Given the description of an element on the screen output the (x, y) to click on. 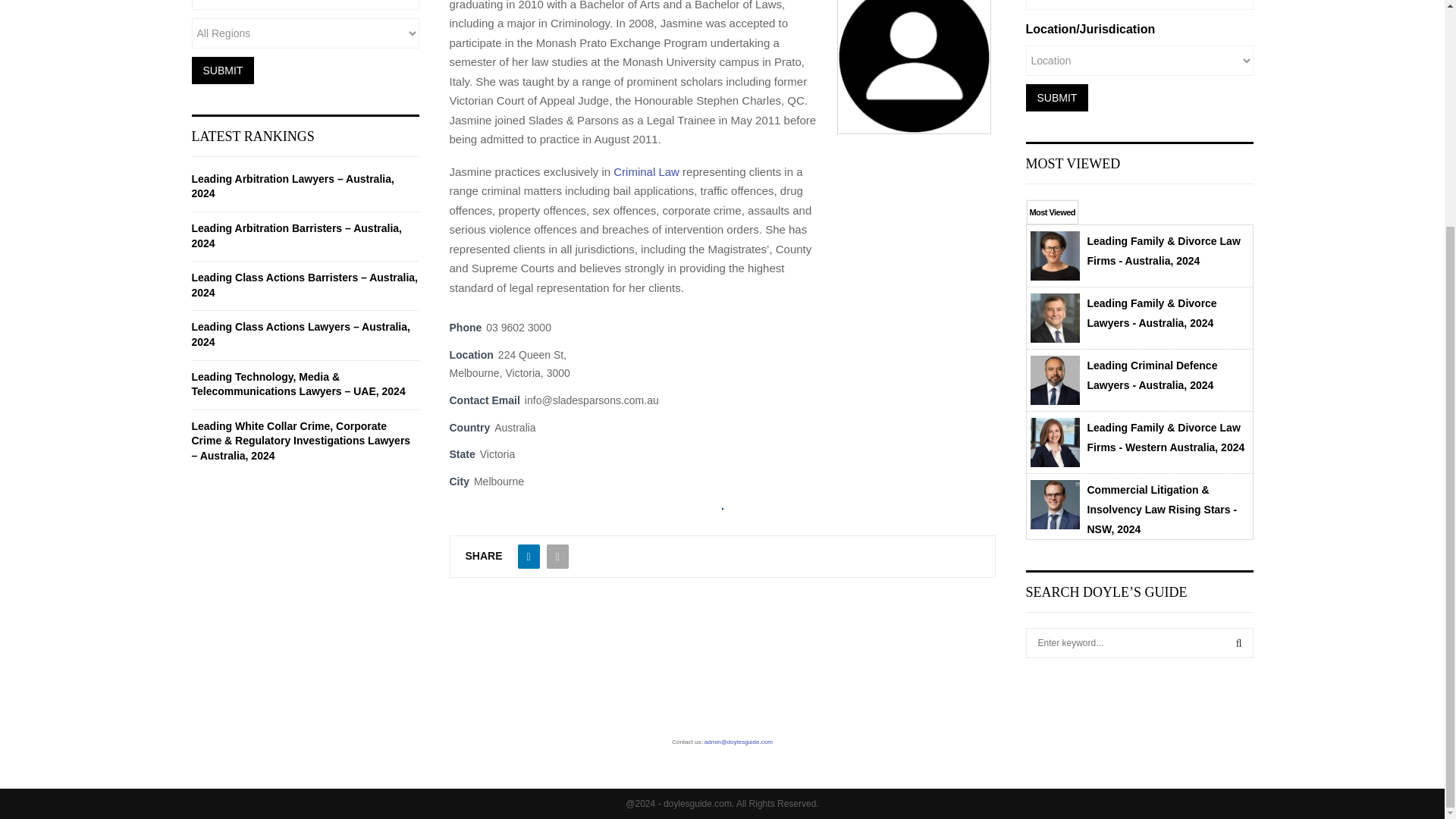
Leading Criminal Defence Lawyers - Australia, 2024 (1152, 375)
Submit (221, 70)
Sign up new account (722, 308)
Submit (1056, 97)
Login to your account (722, 2)
